Given the description of an element on the screen output the (x, y) to click on. 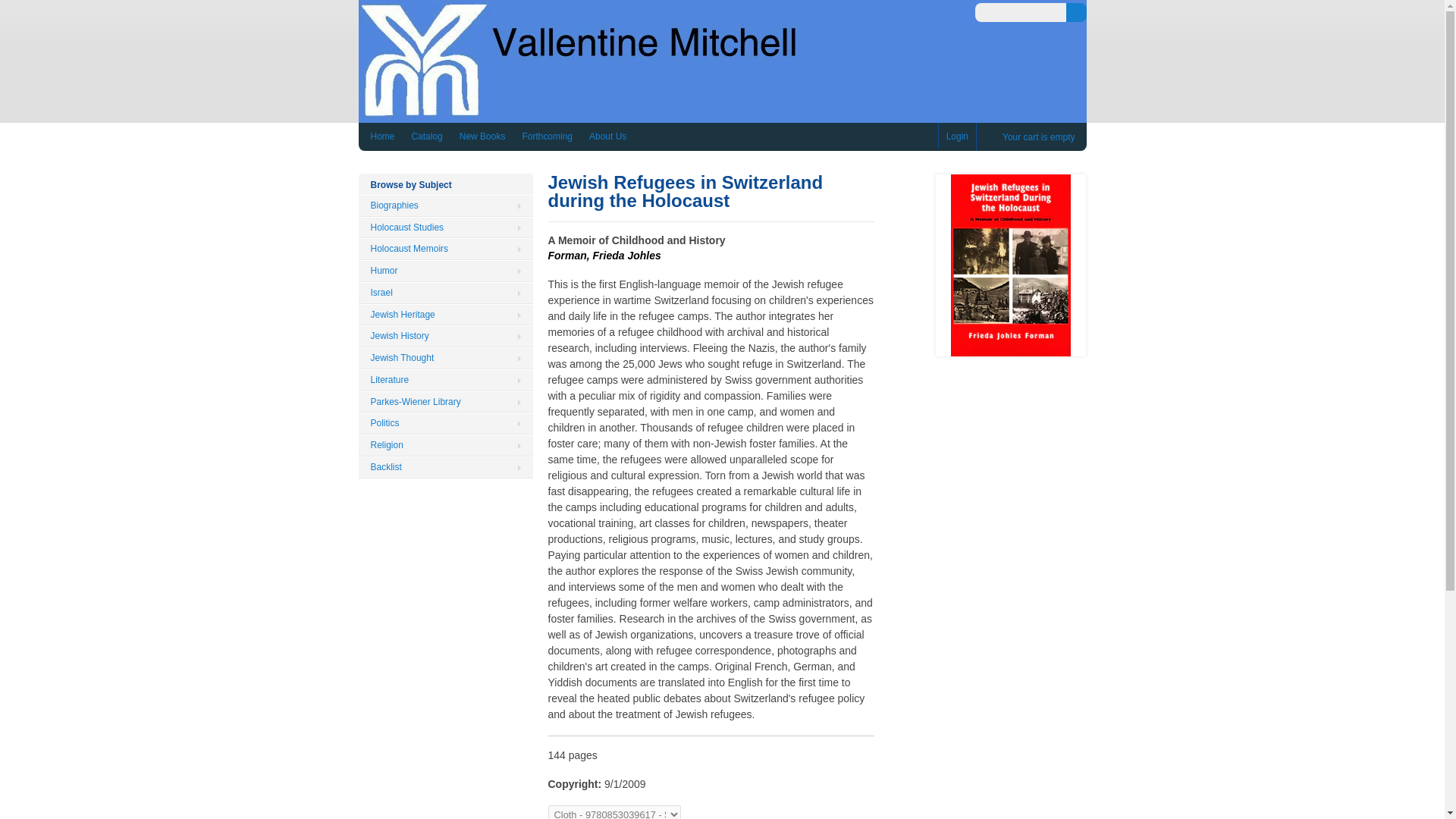
Home (596, 111)
Holocaust Memoirs (445, 249)
New Books (482, 136)
Jewish Thought (445, 358)
Home (381, 136)
Holocaust Studies (445, 228)
Jewish Thought (445, 358)
Biographies (445, 205)
Your cart is empty (1031, 137)
Jewish History (445, 336)
Catalog (426, 136)
Search (1075, 12)
Religion (445, 445)
Jewish Heritage (445, 314)
Humor (445, 270)
